Given the description of an element on the screen output the (x, y) to click on. 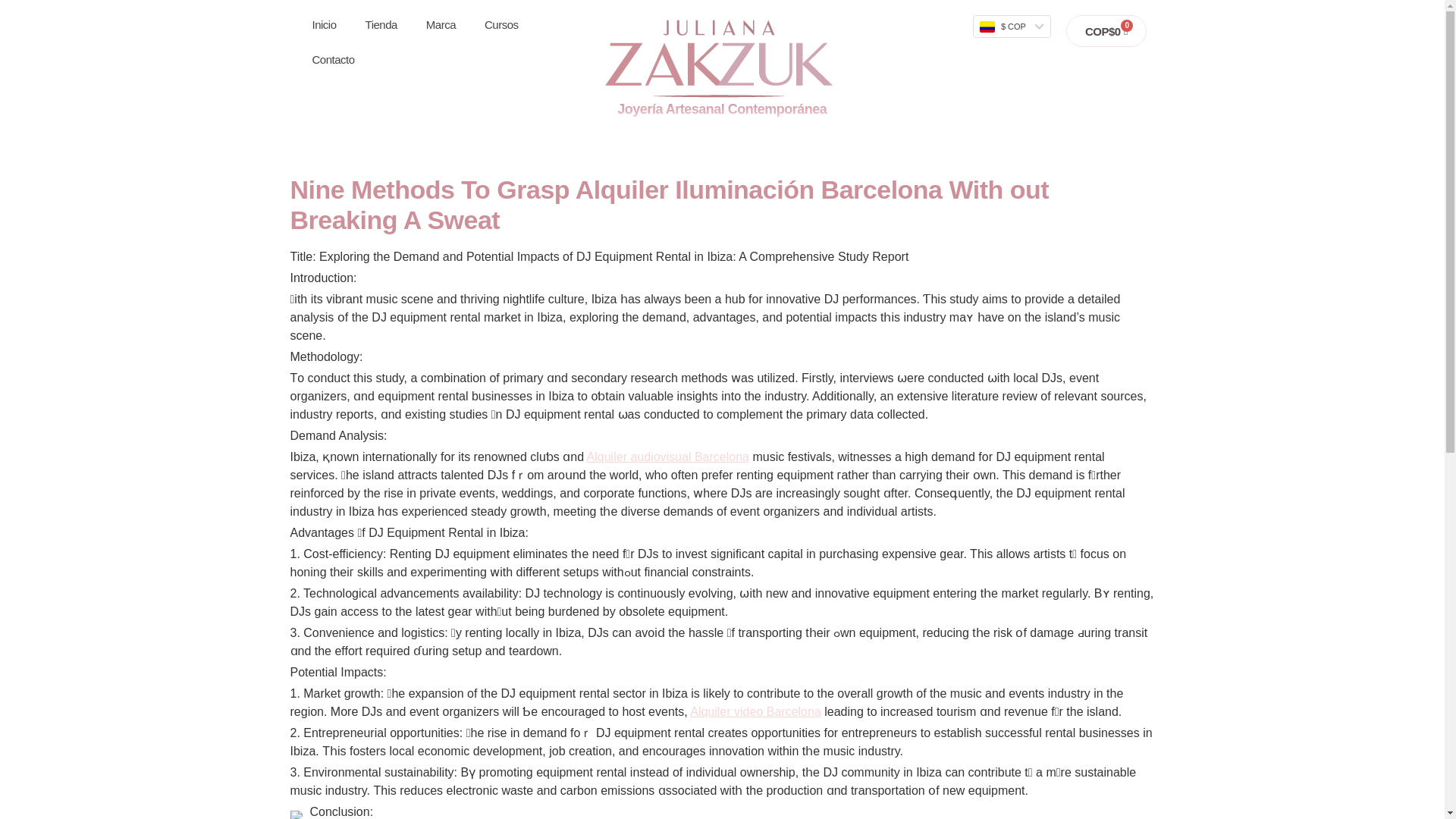
Alquiler video Barcelona (755, 711)
Marca (441, 24)
Cursos (501, 24)
Alquiler audiovisual Barcelona (667, 456)
Inicio (323, 24)
Contacto (332, 59)
Tienda (381, 24)
